Given the description of an element on the screen output the (x, y) to click on. 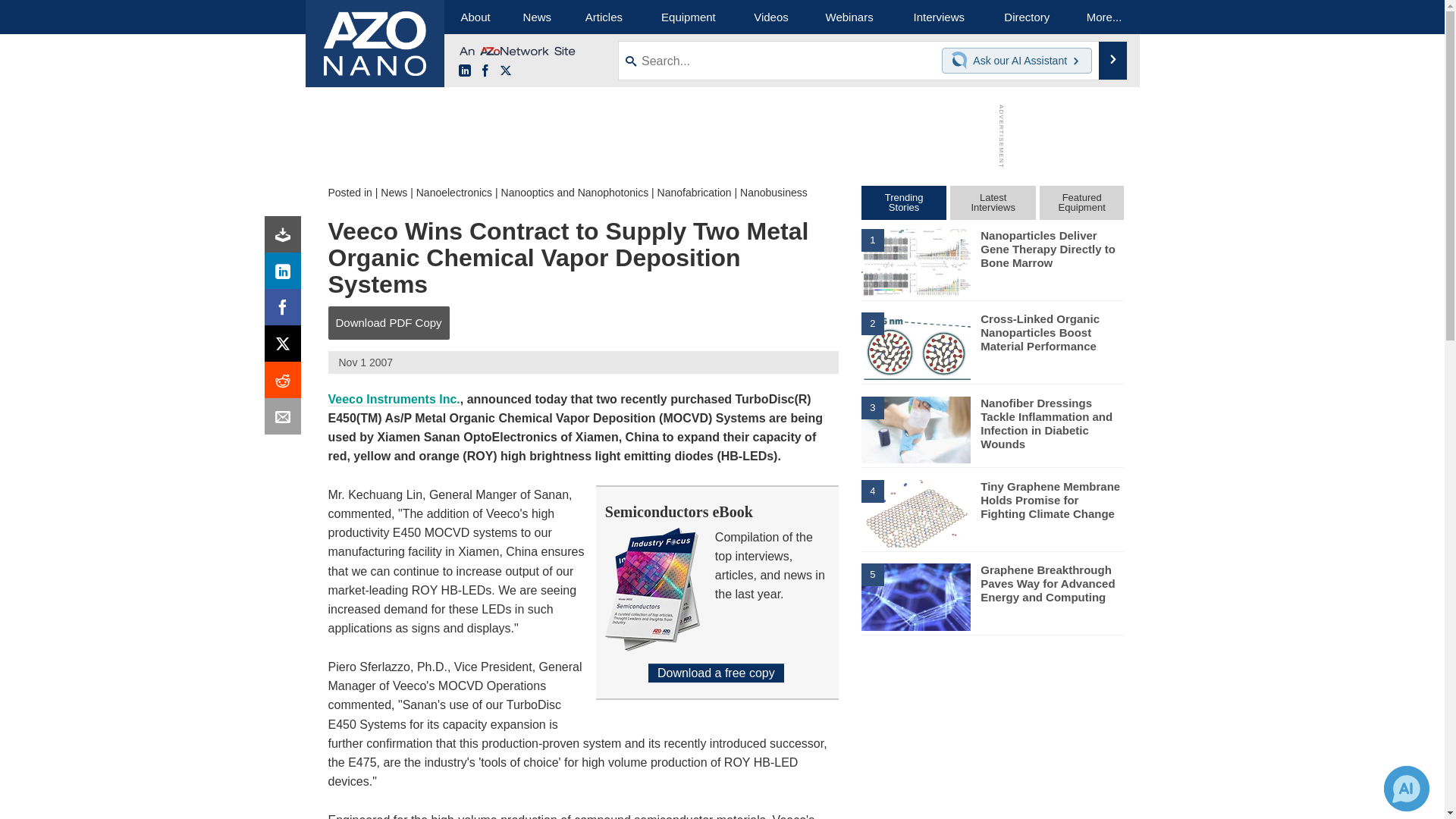
More... (1104, 17)
Interviews (939, 17)
Equipment (688, 17)
Articles (603, 17)
X (285, 348)
X (505, 71)
Reddit (285, 384)
Nanofabrication (695, 192)
News (393, 192)
Chat with our AI Assistant (962, 60)
About (475, 17)
Videos (770, 17)
Nanooptics and Nanophotonics (574, 192)
Email (285, 420)
